Given the description of an element on the screen output the (x, y) to click on. 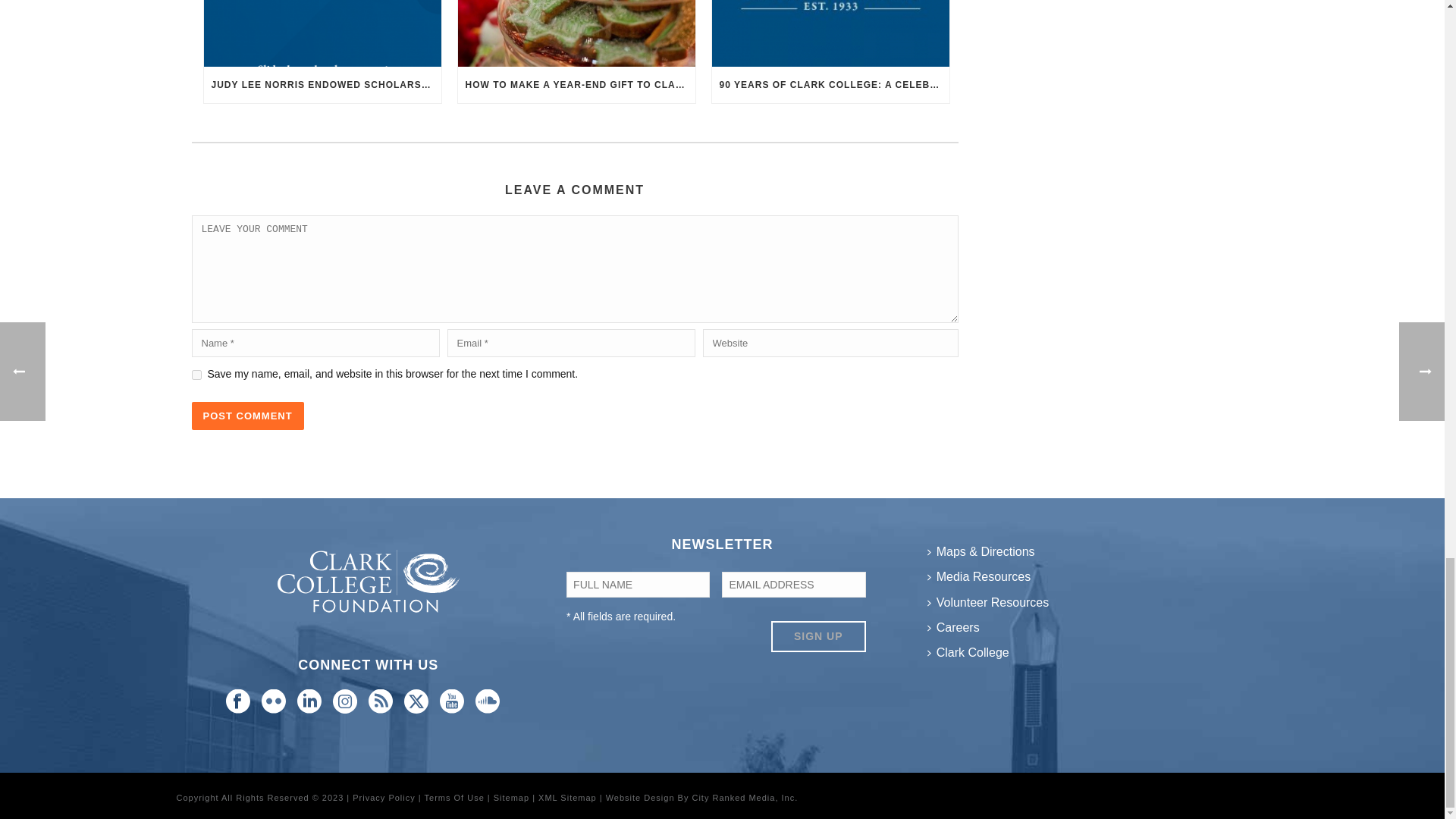
yes (195, 375)
HOW TO MAKE A YEAR-END GIFT TO CLARK COLLEGE (576, 84)
Sign Up (818, 635)
POST COMMENT (246, 415)
How to make a year-end gift to Clark College (576, 33)
